Given the description of an element on the screen output the (x, y) to click on. 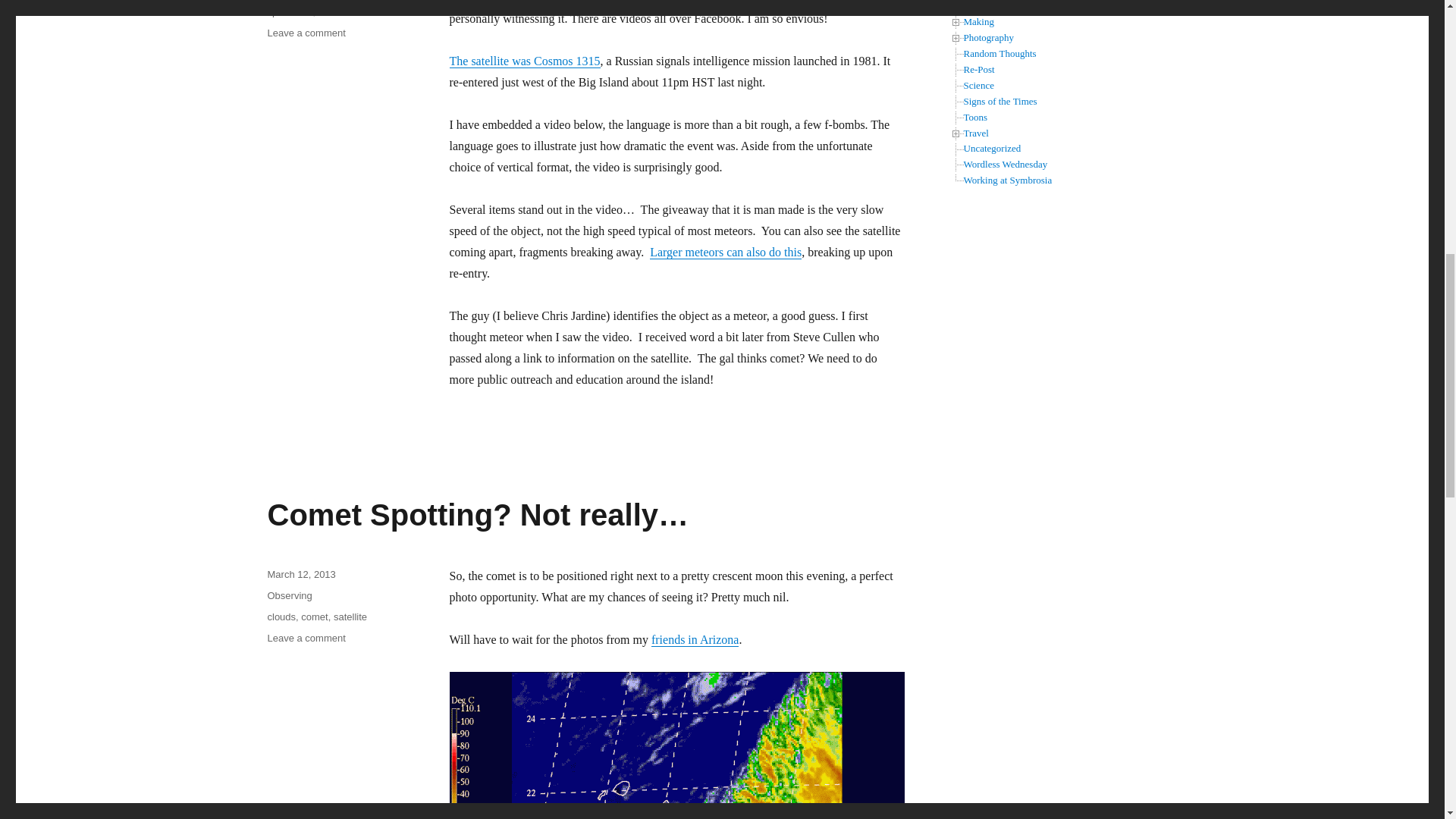
satellite (354, 0)
reentry (317, 0)
Larger meteors can also do this (725, 251)
friends in Arizona (694, 639)
The satellite was Cosmos 1315 (523, 60)
meteor (281, 0)
spacecraft (289, 11)
Waikoloa (338, 11)
